Given the description of an element on the screen output the (x, y) to click on. 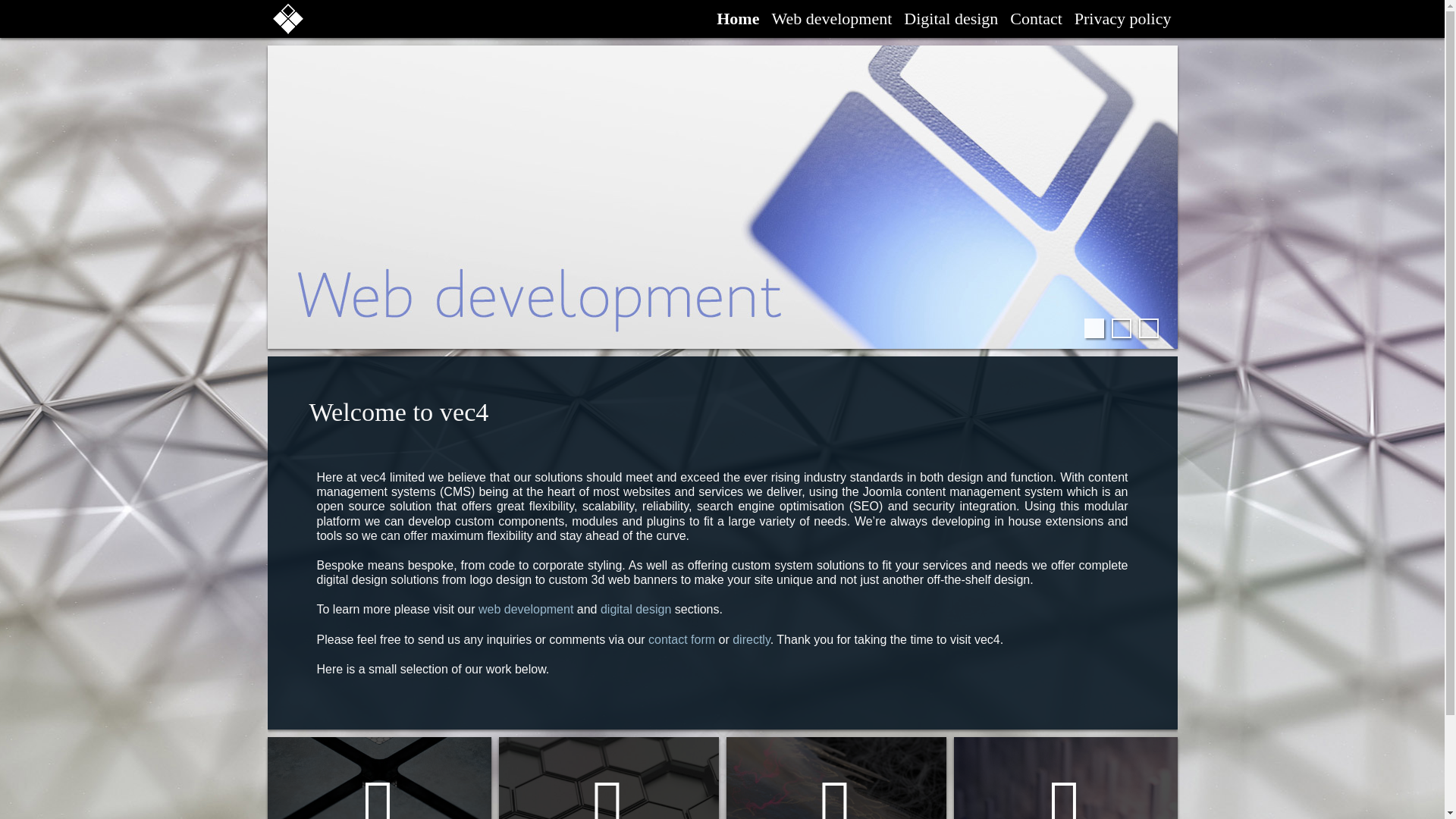
Digital design (836, 778)
Contact (1065, 778)
Web development (831, 18)
Privacy policy (1122, 18)
2 (1121, 328)
1 (1093, 328)
directly (751, 638)
contact form (680, 638)
Digital design (951, 18)
digital design (635, 608)
Home (737, 18)
Contact (1035, 18)
3 (1148, 328)
Home (378, 778)
Web development (609, 778)
